Given the description of an element on the screen output the (x, y) to click on. 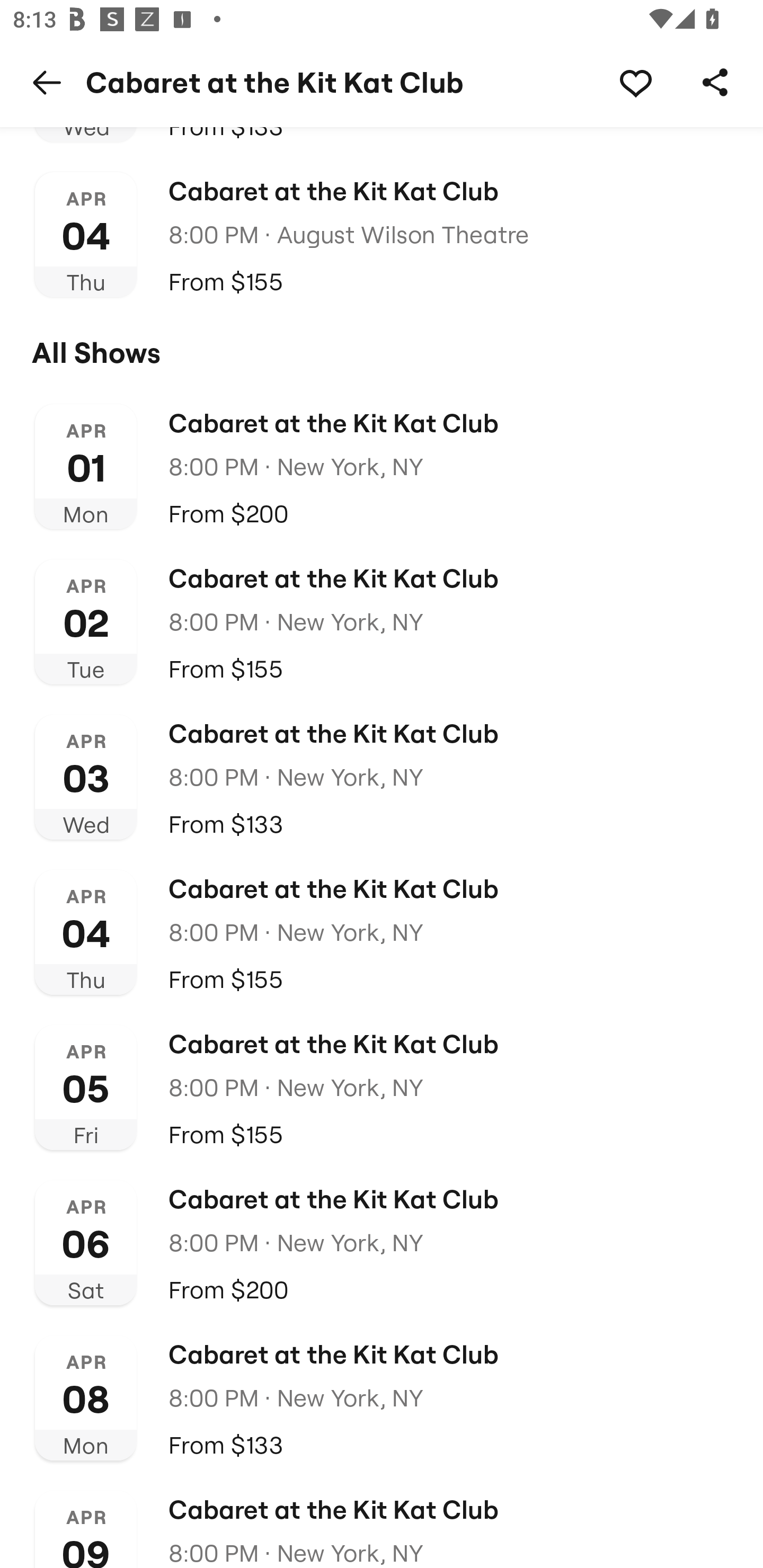
Back (47, 81)
Track this performer (635, 81)
Share this performer (715, 81)
